Given the description of an element on the screen output the (x, y) to click on. 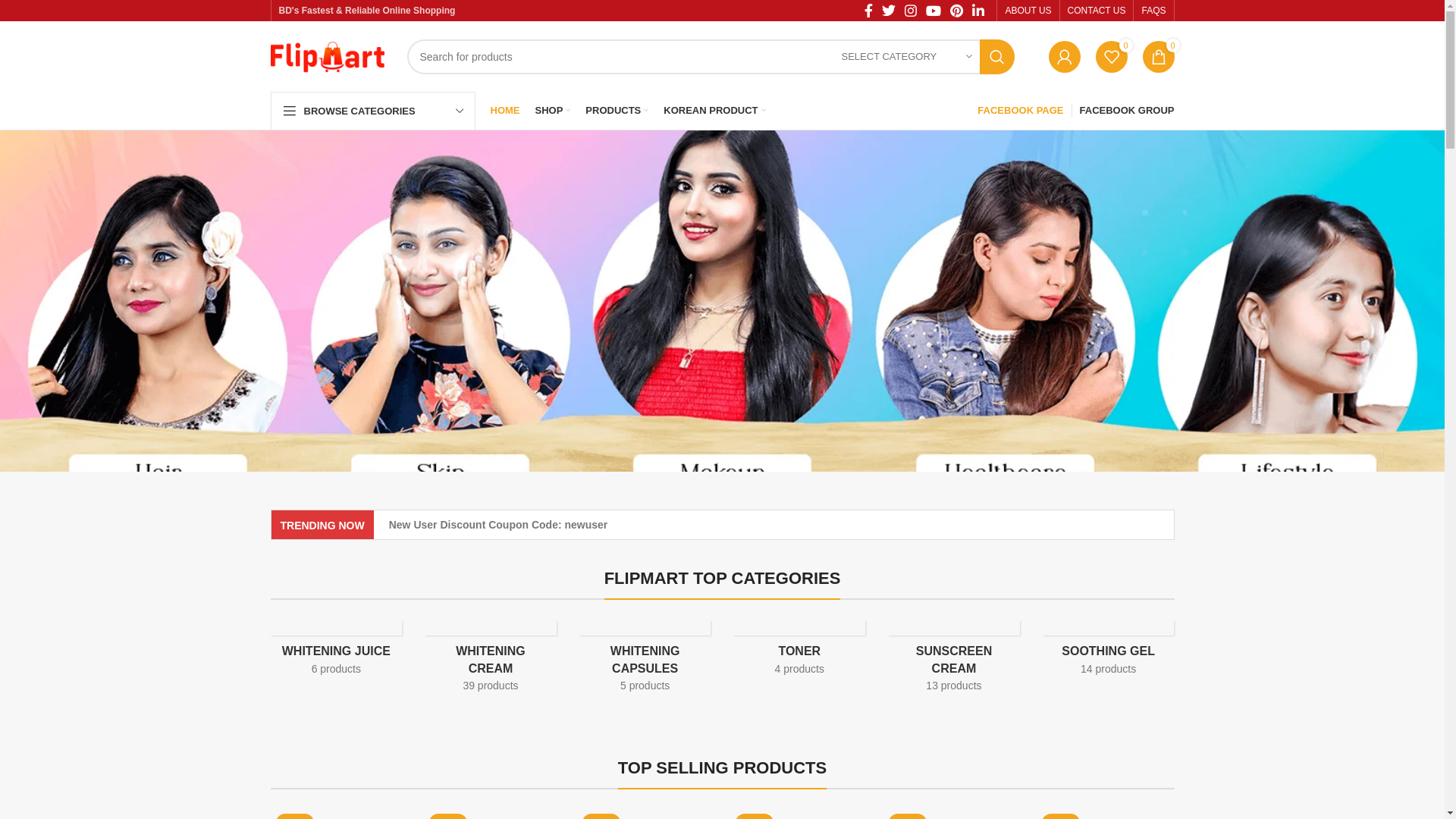
HOME Element type: text (504, 110)
0 Element type: text (1110, 56)
SELECT CATEGORY Element type: text (906, 56)
FAQS Element type: text (1153, 10)
CONTACT US Element type: text (1096, 10)
39 products Element type: text (489, 685)
6 products Element type: text (335, 668)
ABOUT US Element type: text (1027, 10)
KOREAN PRODUCT Element type: text (714, 110)
PRODUCTS Element type: text (616, 110)
My account Element type: hover (1063, 56)
5 products Element type: text (644, 685)
13 products Element type: text (953, 685)
FACEBOOK PAGE Element type: text (1020, 110)
4 products Element type: text (799, 668)
FACEBOOK GROUP Element type: text (1126, 110)
SHOP Element type: text (553, 110)
14 products Element type: text (1107, 668)
0 Element type: text (1157, 56)
Search for products Element type: hover (709, 56)
SEARCH Element type: text (996, 56)
